Given the description of an element on the screen output the (x, y) to click on. 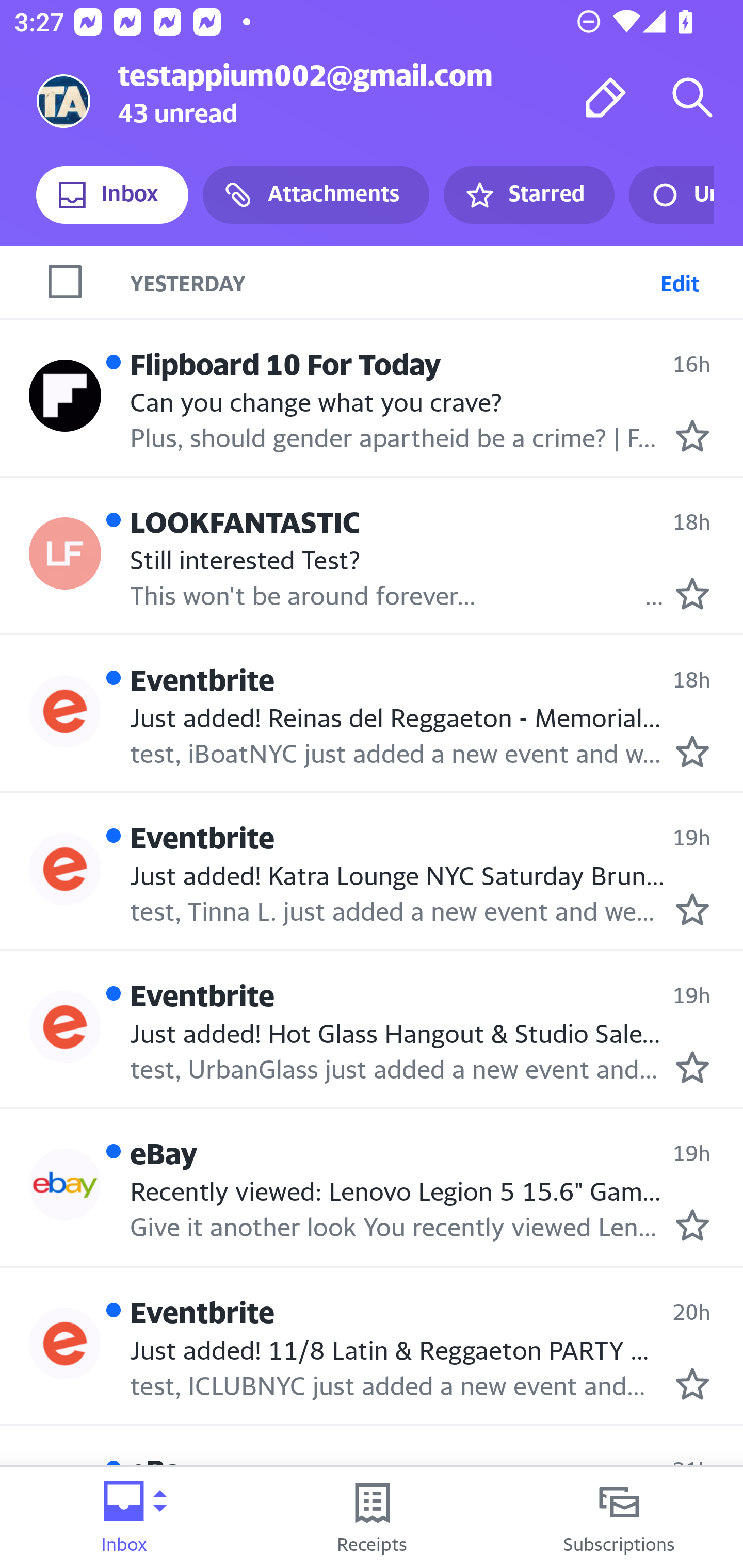
Compose (605, 97)
Search mail (692, 97)
Attachments (315, 195)
Starred (528, 195)
YESTERDAY (436, 281)
Profile
Flipboard 10 For Today (64, 395)
Mark as starred. (692, 435)
Profile
LOOKFANTASTIC (64, 553)
Mark as starred. (692, 593)
Profile
Eventbrite (64, 711)
Mark as starred. (692, 751)
Profile
Eventbrite (64, 868)
Mark as starred. (692, 908)
Profile
Eventbrite (64, 1026)
Mark as starred. (692, 1066)
Profile
eBay (64, 1185)
Mark as starred. (692, 1225)
Profile
Eventbrite (64, 1343)
Mark as starred. (692, 1383)
Inbox Folder picker (123, 1517)
Receipts (371, 1517)
Subscriptions (619, 1517)
Mark as starred. (692, 1542)
